Given the description of an element on the screen output the (x, y) to click on. 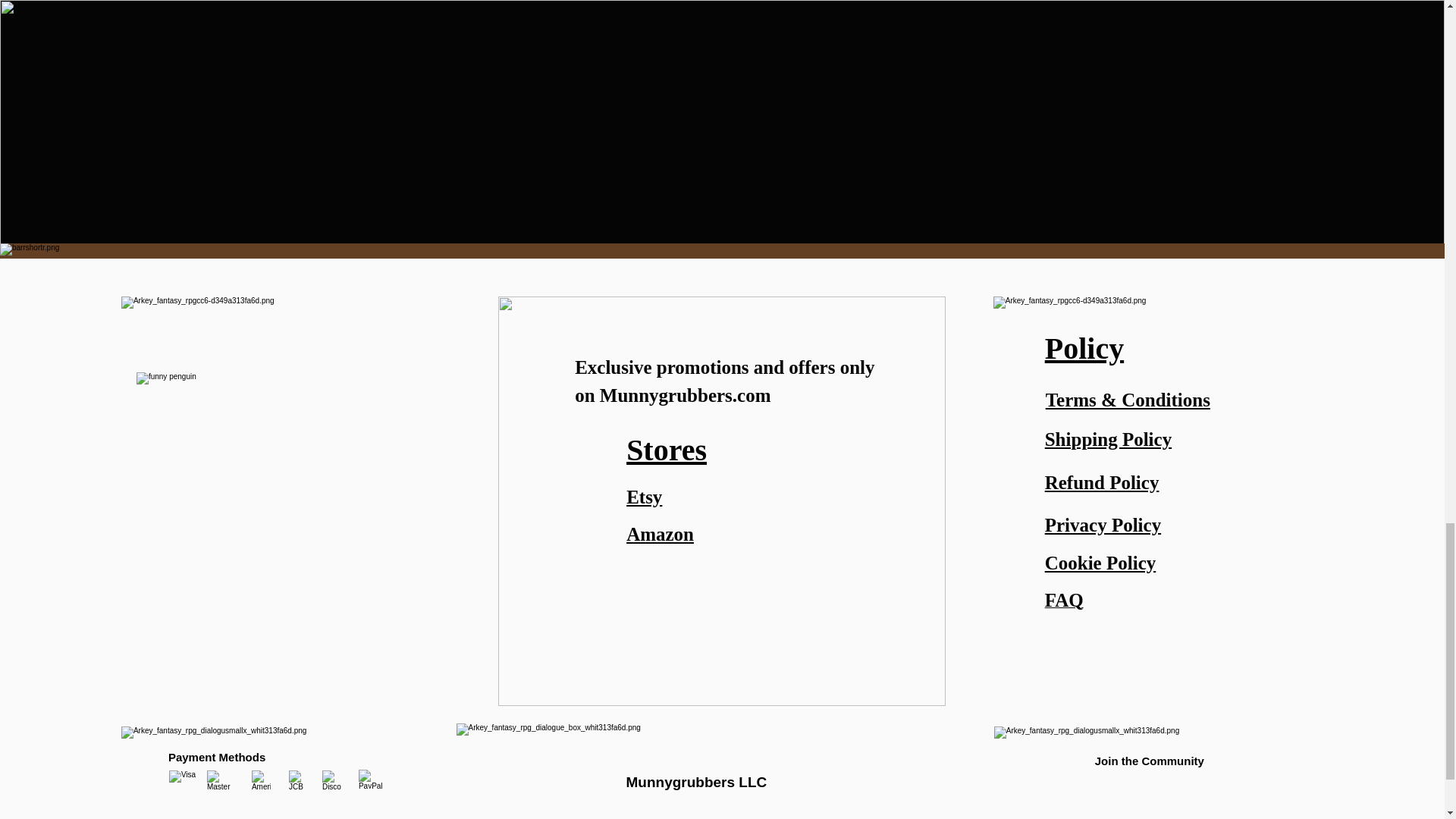
Amazon (660, 533)
FAQ (1064, 602)
Shipping Policy (1108, 438)
Etsy (644, 496)
Cookie Policy (1100, 562)
Privacy Policy (1102, 524)
Refund Policy (1101, 482)
